Given the description of an element on the screen output the (x, y) to click on. 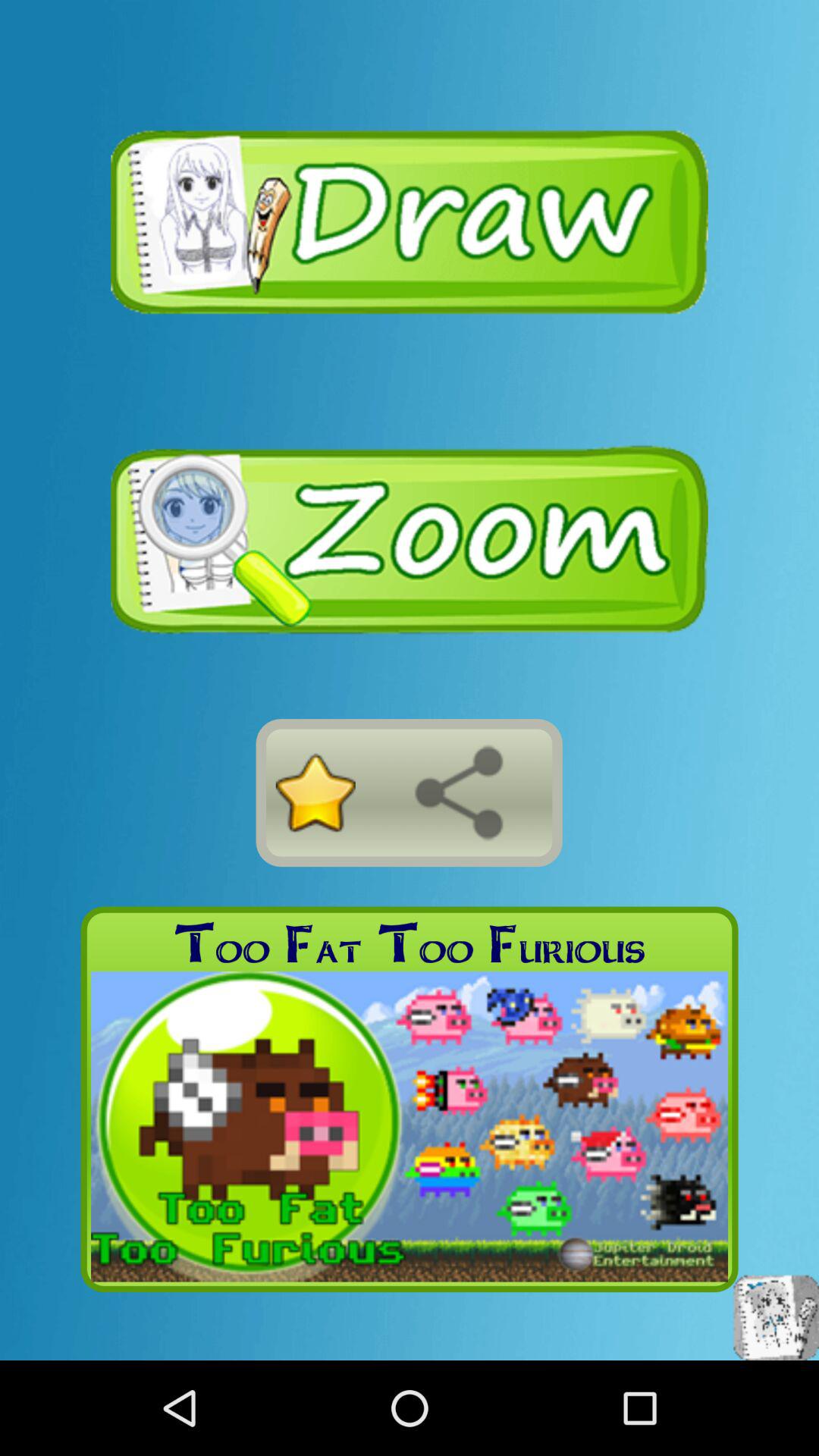
select the app above the too fat too item (458, 792)
